Given the description of an element on the screen output the (x, y) to click on. 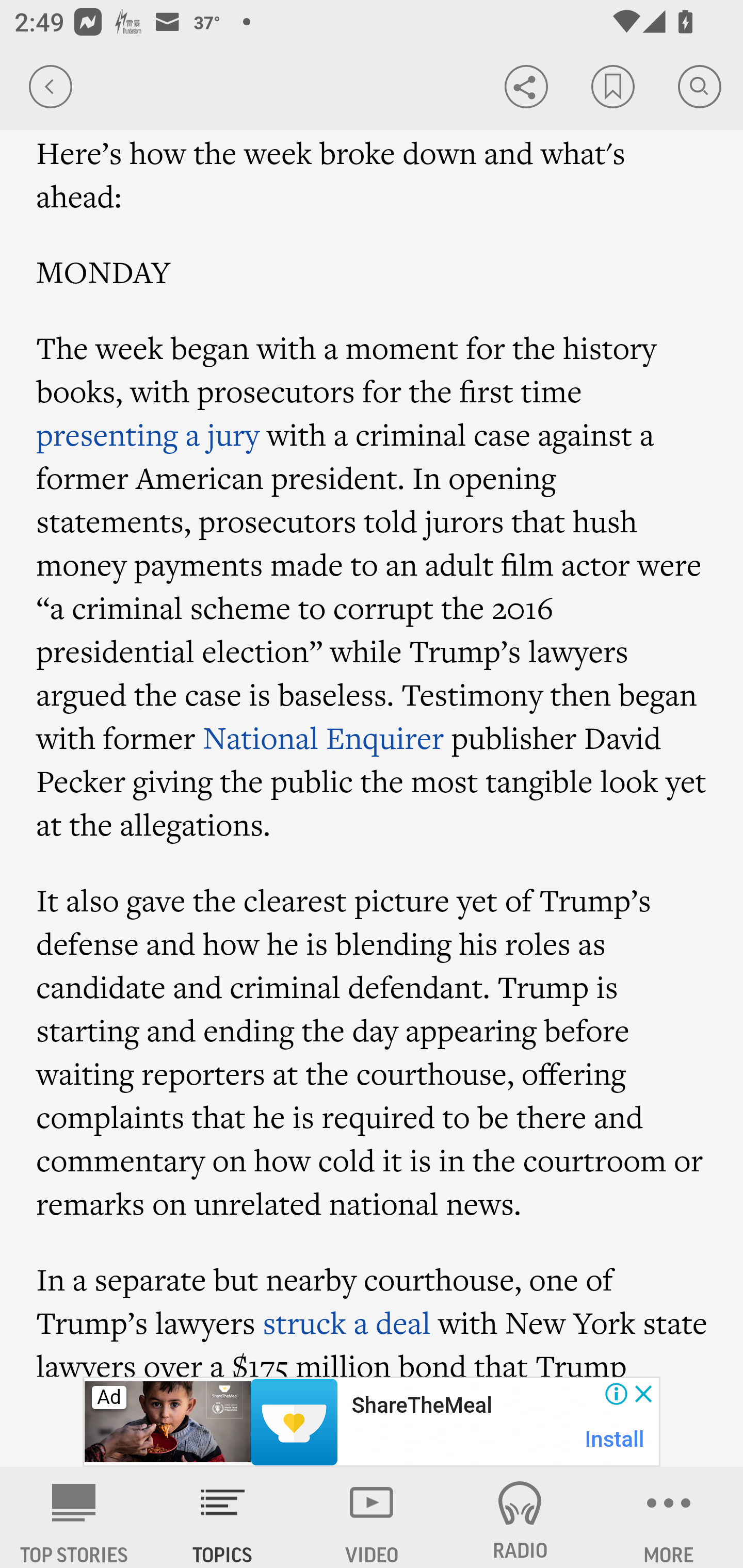
presenting a jury (148, 434)
National Enquirer (323, 738)
struck a deal (346, 1323)
ShareTheMeal (420, 1405)
Install (614, 1438)
AP News TOP STORIES (74, 1517)
TOPICS (222, 1517)
VIDEO (371, 1517)
RADIO (519, 1517)
MORE (668, 1517)
